Given the description of an element on the screen output the (x, y) to click on. 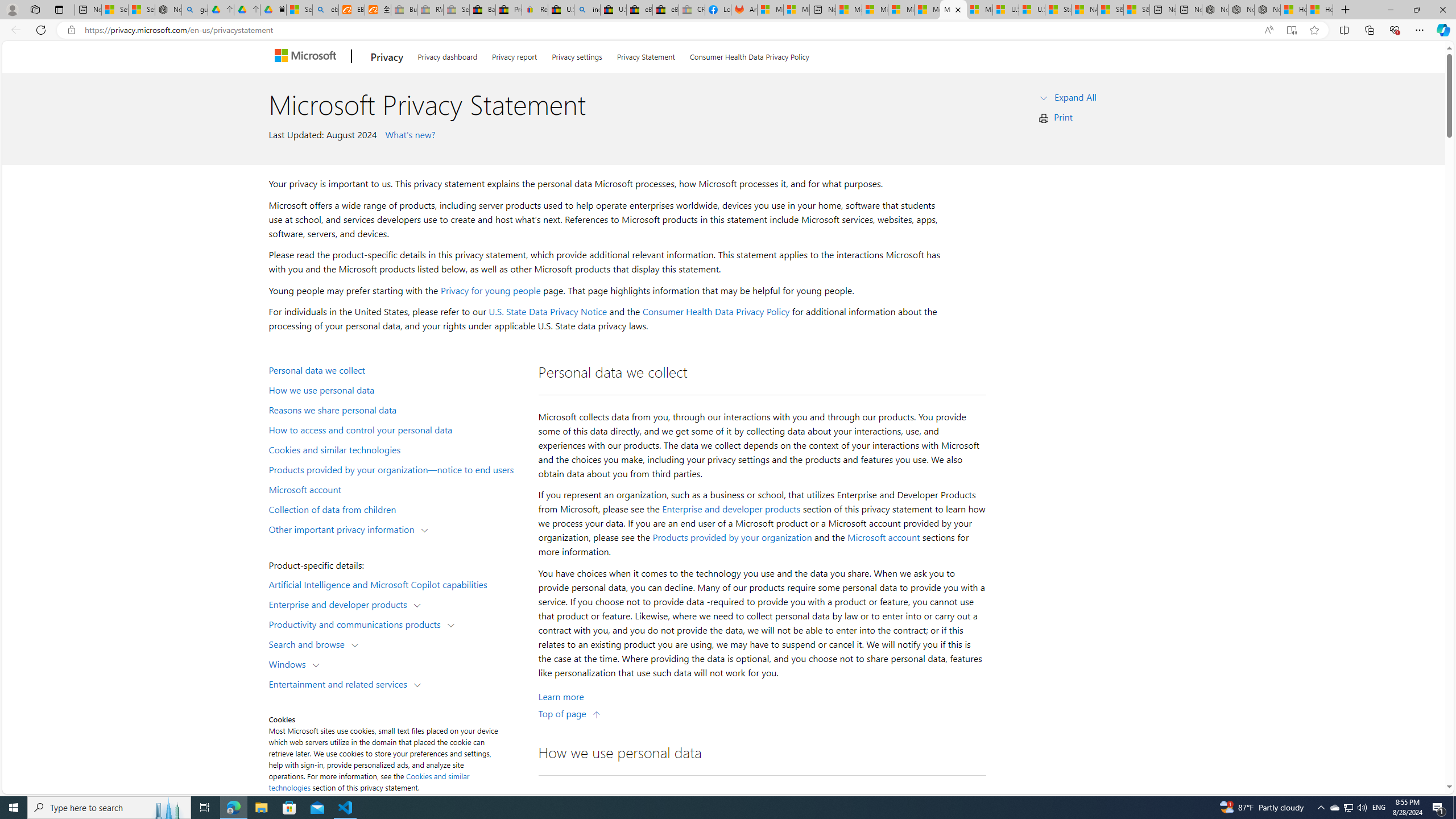
guge yunpan - Search (194, 9)
Privacy Statement (645, 54)
Settings and more (Alt+F) (1419, 29)
Read aloud this page (Ctrl+Shift+U) (1268, 29)
S&P 500, Nasdaq end lower, weighed by Nvidia dip | Watch (1136, 9)
Microsoft (306, 56)
Microsoft account | Privacy (874, 9)
ebay - Search (325, 9)
Back (13, 29)
including - Search (587, 9)
